Given the description of an element on the screen output the (x, y) to click on. 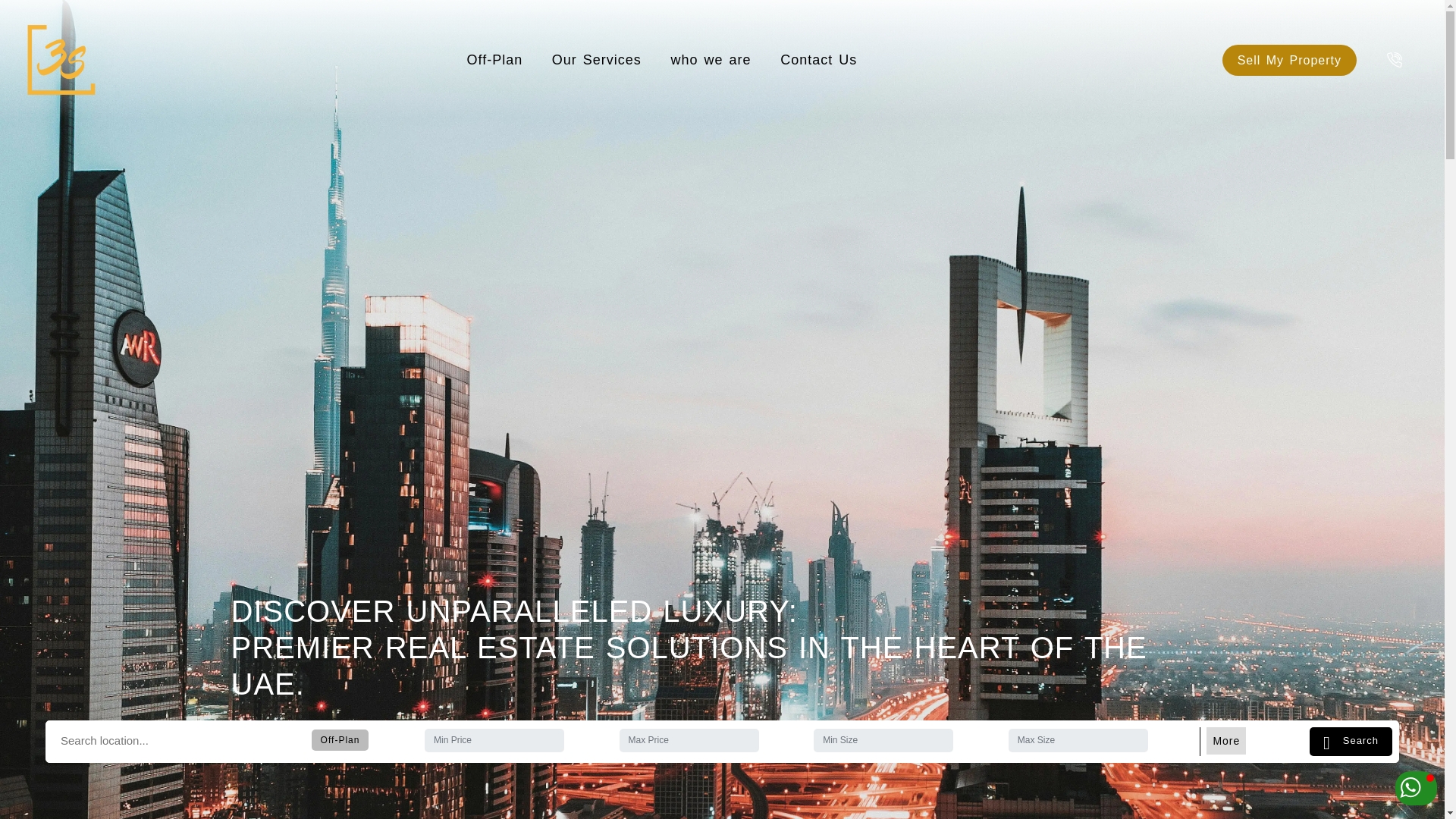
Off-Plan (495, 59)
who we are (710, 59)
Our Services (596, 59)
More (1226, 740)
Sell My Property (1289, 59)
Contact Us (818, 59)
Off-Plan (316, 728)
Search (1349, 741)
